Given the description of an element on the screen output the (x, y) to click on. 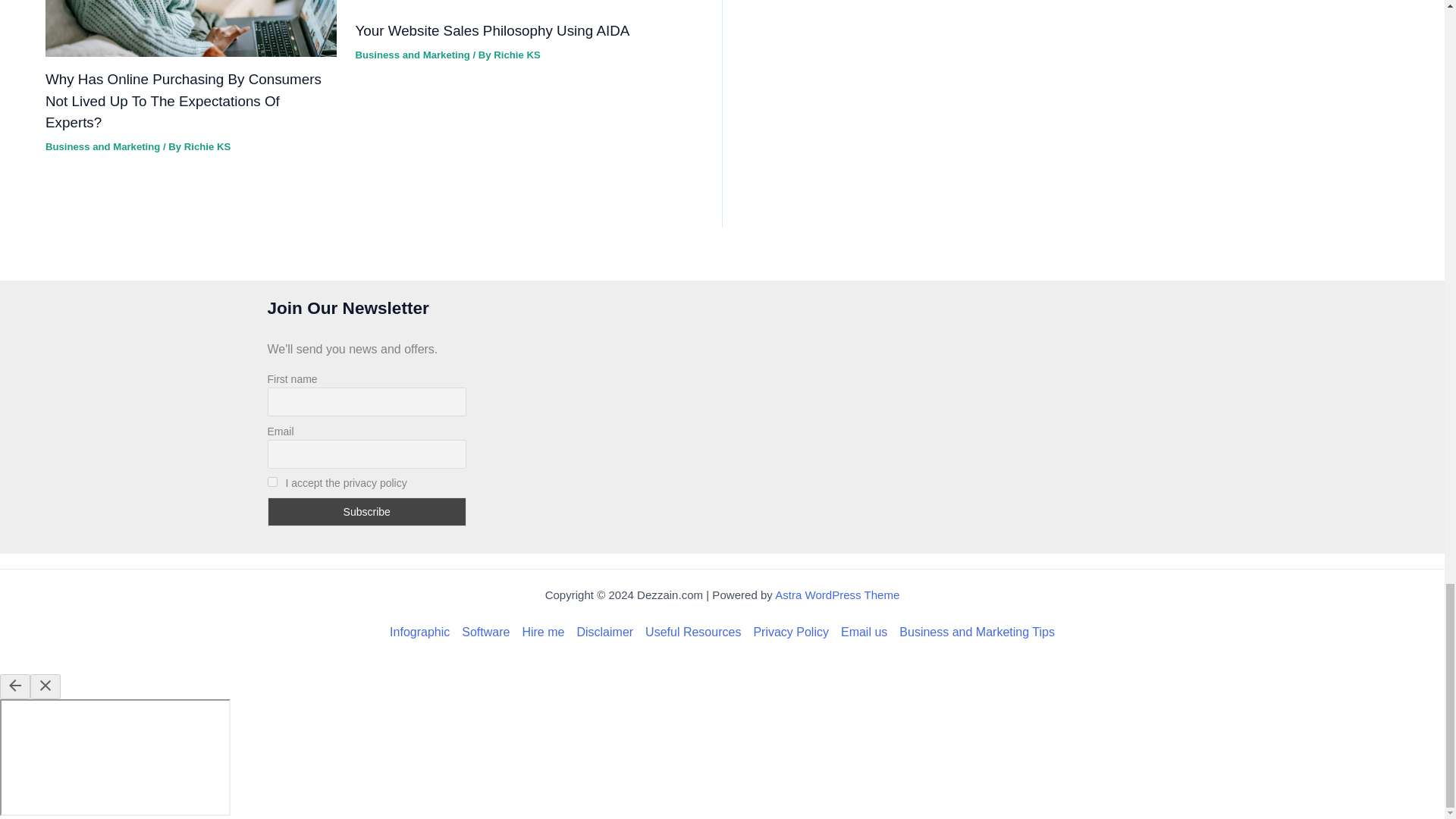
View all posts by Richie KS (207, 146)
View all posts by Richie KS (516, 54)
Business and Marketing (102, 146)
Subscribe (365, 511)
on (271, 481)
